Given the description of an element on the screen output the (x, y) to click on. 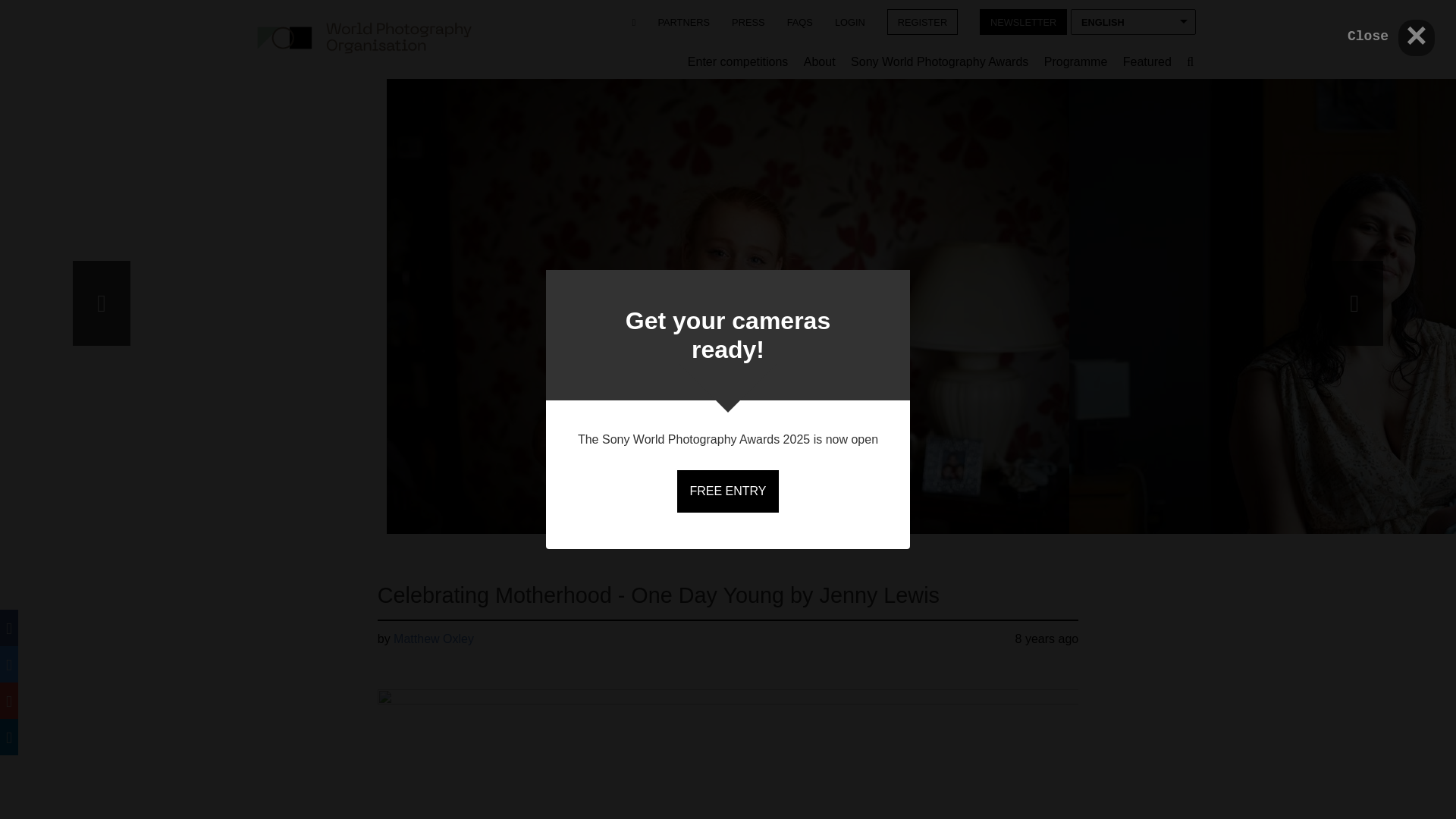
About (819, 62)
FAQS (799, 21)
REGISTER (922, 22)
ENGLISH (1133, 21)
Sony World Photography Awards (938, 62)
PRESS (748, 21)
Home (363, 37)
Enter competitions (737, 62)
LOGIN (850, 21)
FREE ENTRY (727, 491)
